Given the description of an element on the screen output the (x, y) to click on. 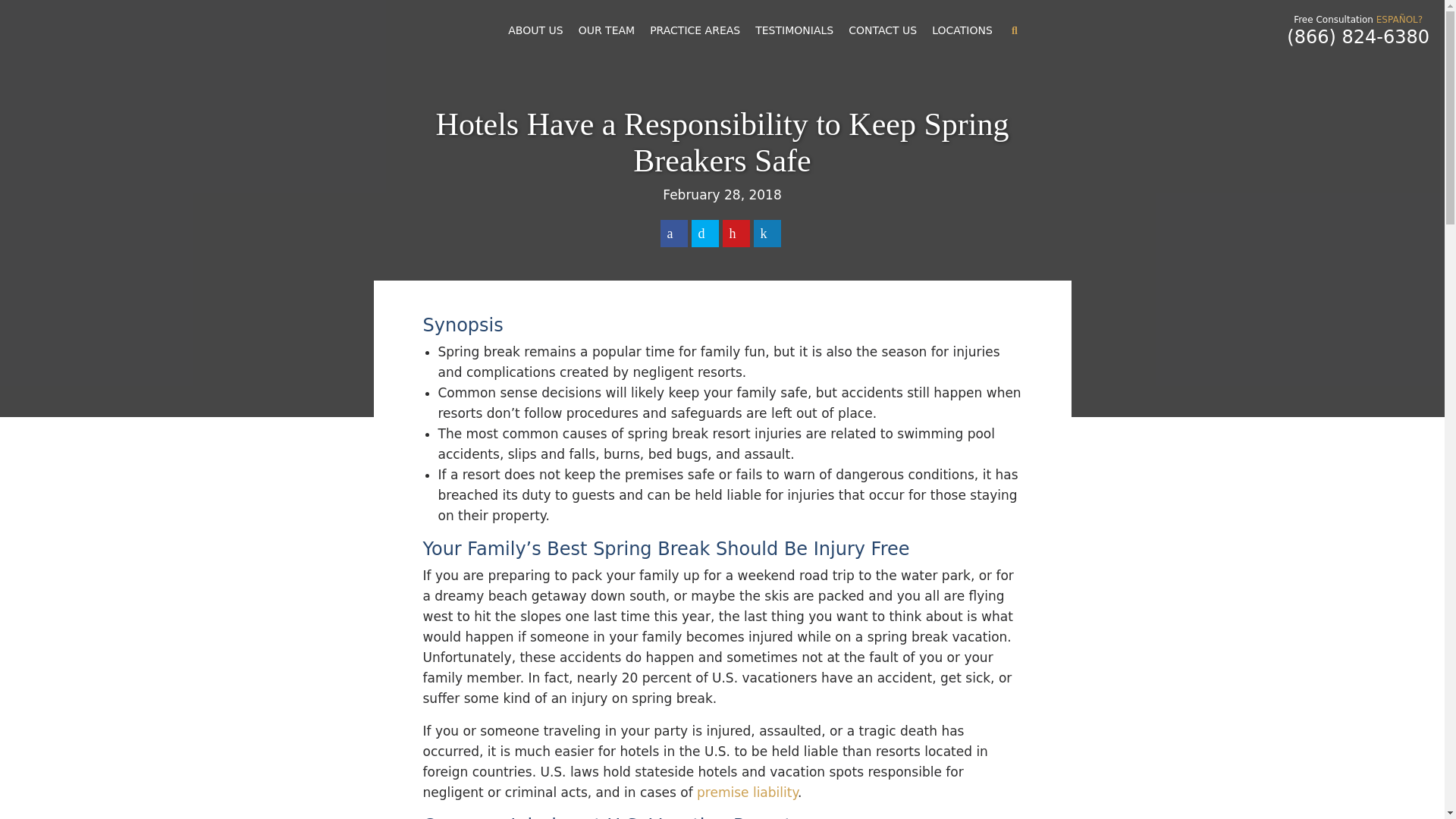
TESTIMONIALS (794, 30)
Share on Facebook (673, 233)
CONTACT US (882, 30)
ABOUT US (535, 30)
LOCATIONS (962, 30)
Share on Pinterest (735, 233)
OUR TEAM (606, 30)
Share on LinkedIn (767, 233)
Share on Twitter (705, 233)
PRACTICE AREAS (695, 30)
